Given the description of an element on the screen output the (x, y) to click on. 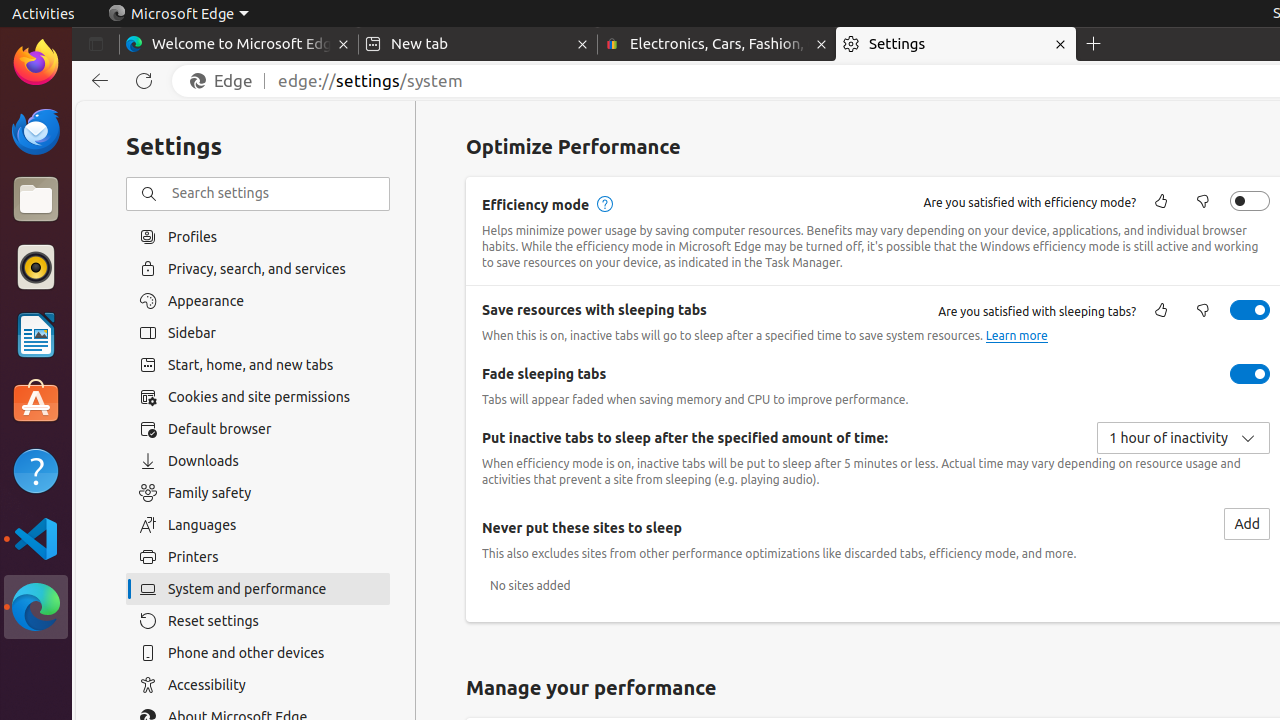
Fade sleeping tabs Element type: check-box (1250, 374)
Tab actions menu Element type: push-button (96, 44)
Close tab Element type: push-button (343, 44)
Family safety Element type: tree-item (258, 493)
Save resources with sleeping tabs Element type: check-box (1250, 310)
